Given the description of an element on the screen output the (x, y) to click on. 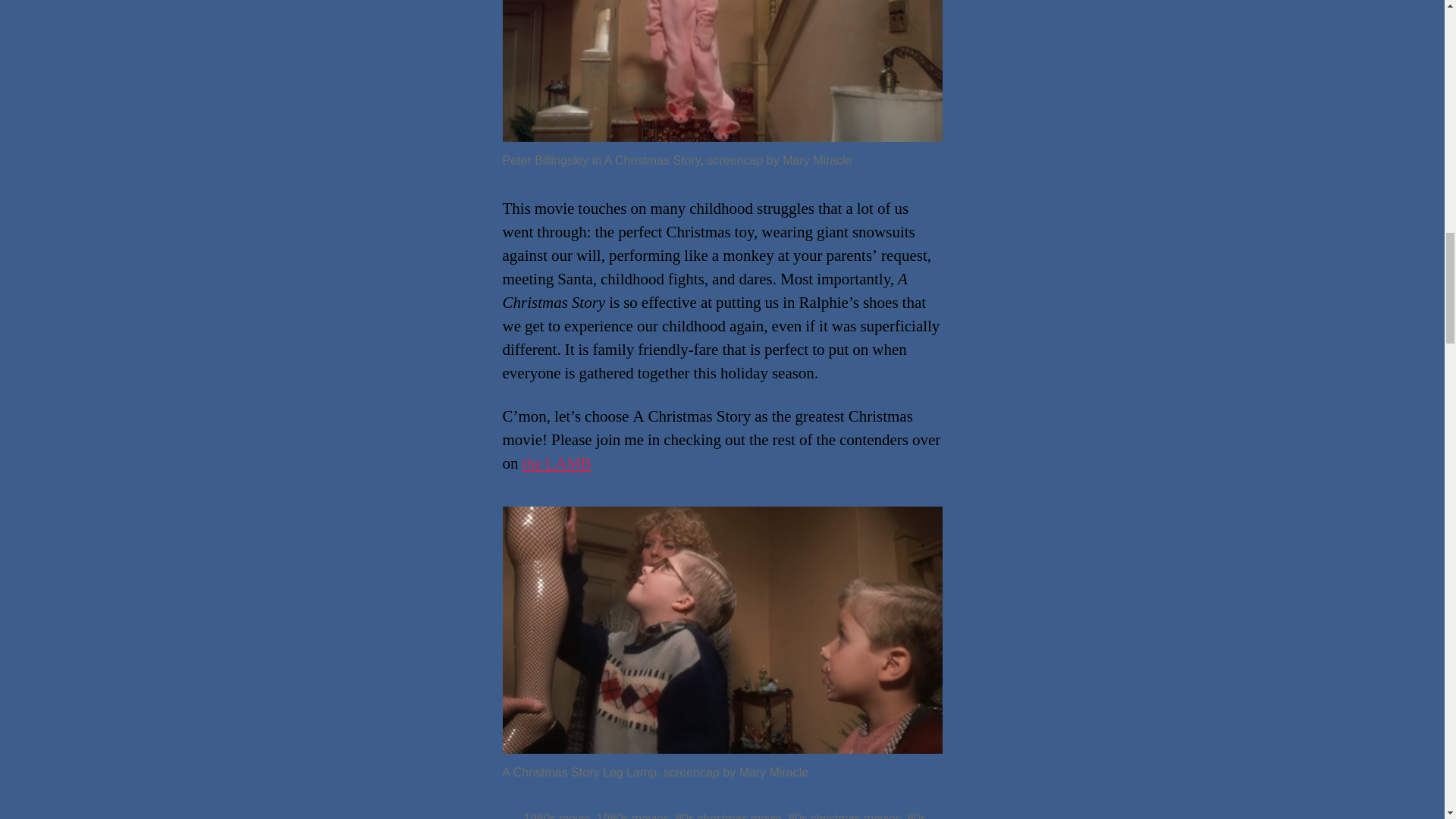
80s christmas movies (845, 815)
1980s movies (632, 815)
the LAMB (556, 463)
80s movie (724, 815)
1980s movie (555, 815)
80s christmas movie (728, 815)
